Given the description of an element on the screen output the (x, y) to click on. 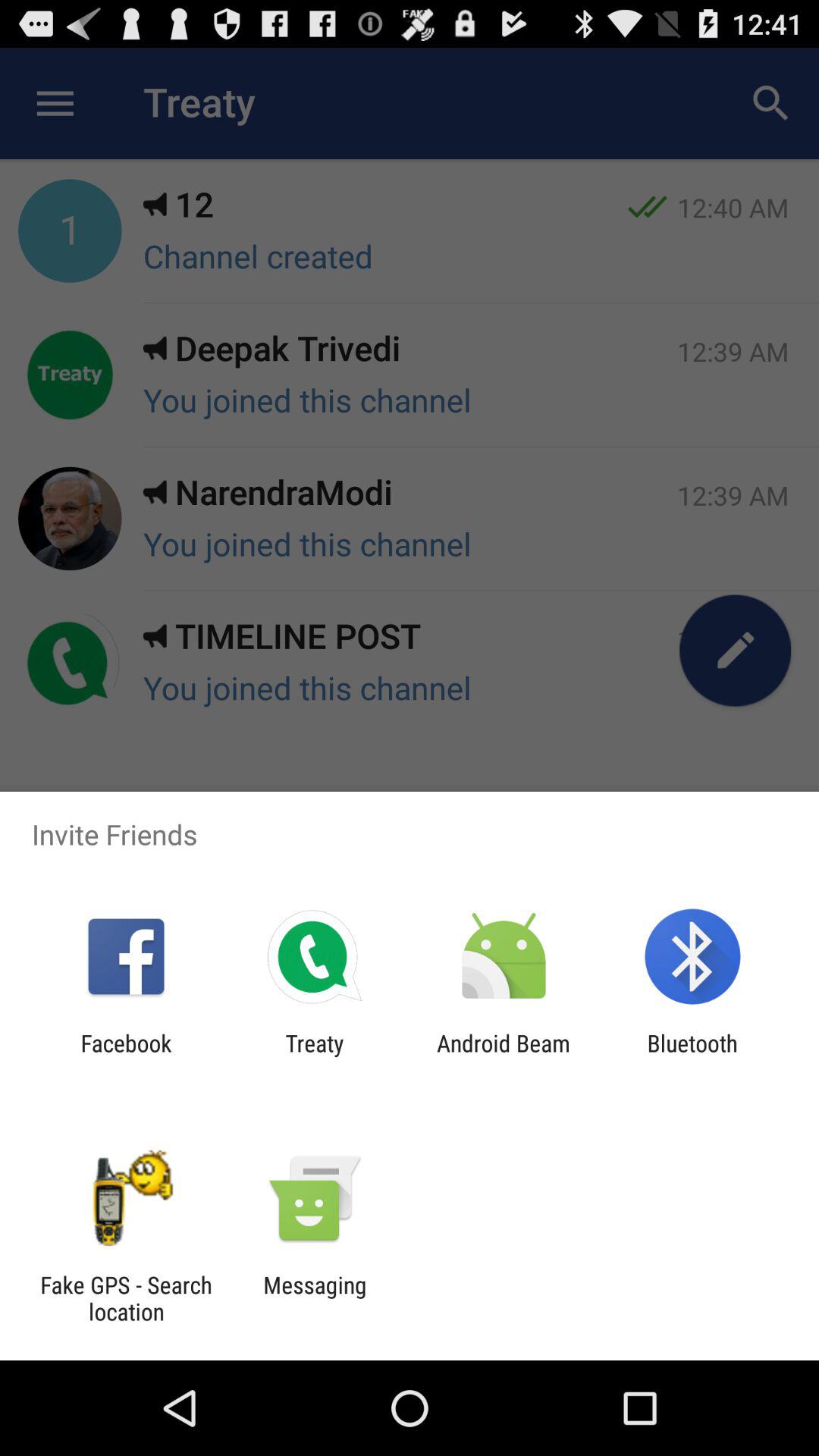
press the icon next to treaty icon (125, 1056)
